Given the description of an element on the screen output the (x, y) to click on. 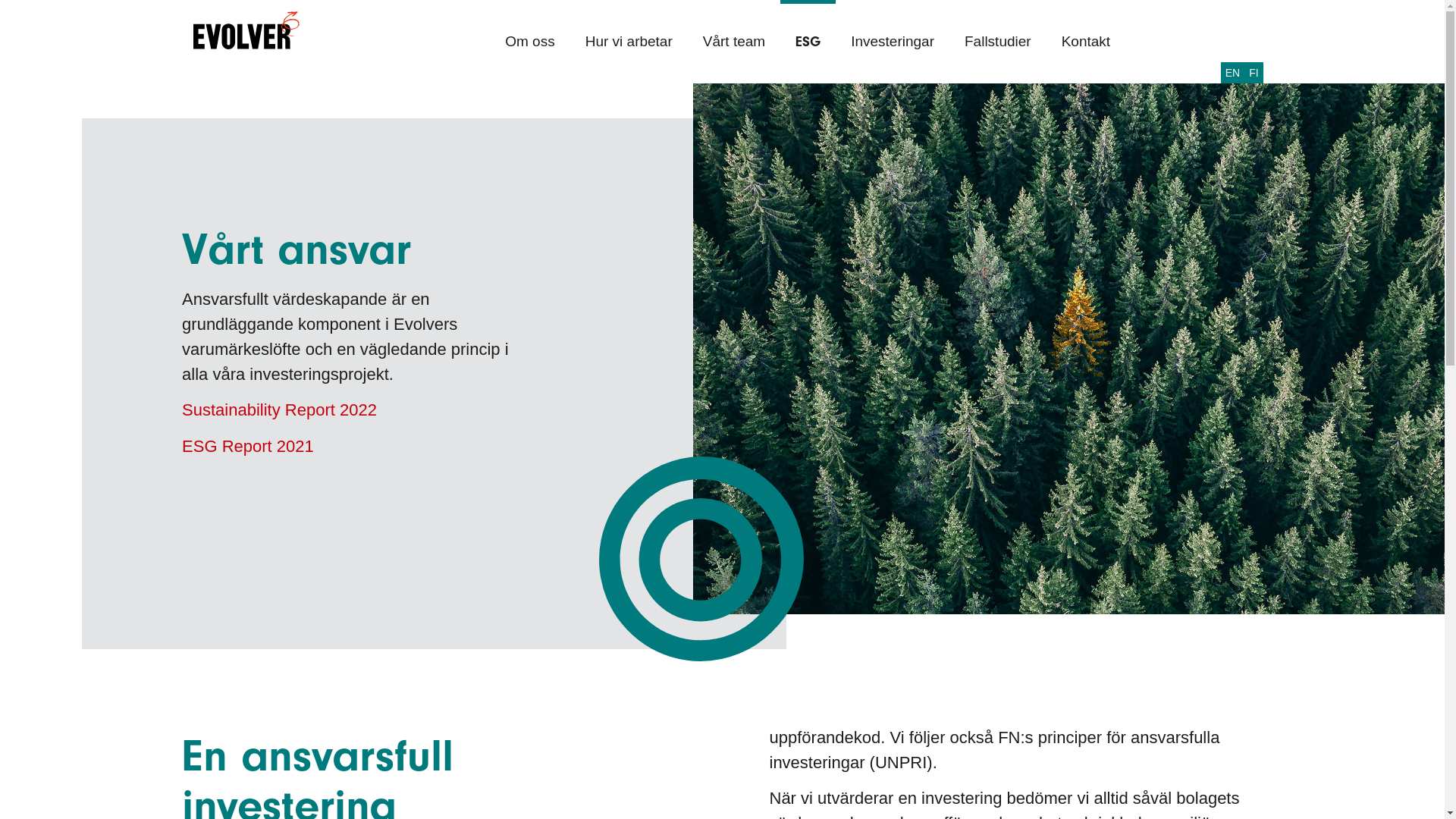
Kontakt Element type: text (1085, 41)
Fallstudier Element type: text (997, 41)
Sustainability Report 2022 Element type: text (279, 409)
FI Element type: text (1253, 72)
ESG Element type: text (807, 41)
Hur vi arbetar Element type: text (628, 41)
EN Element type: text (1232, 72)
Om oss Element type: text (529, 41)
ESG Report 2021 Element type: text (247, 445)
Investeringar Element type: text (892, 41)
